Given the description of an element on the screen output the (x, y) to click on. 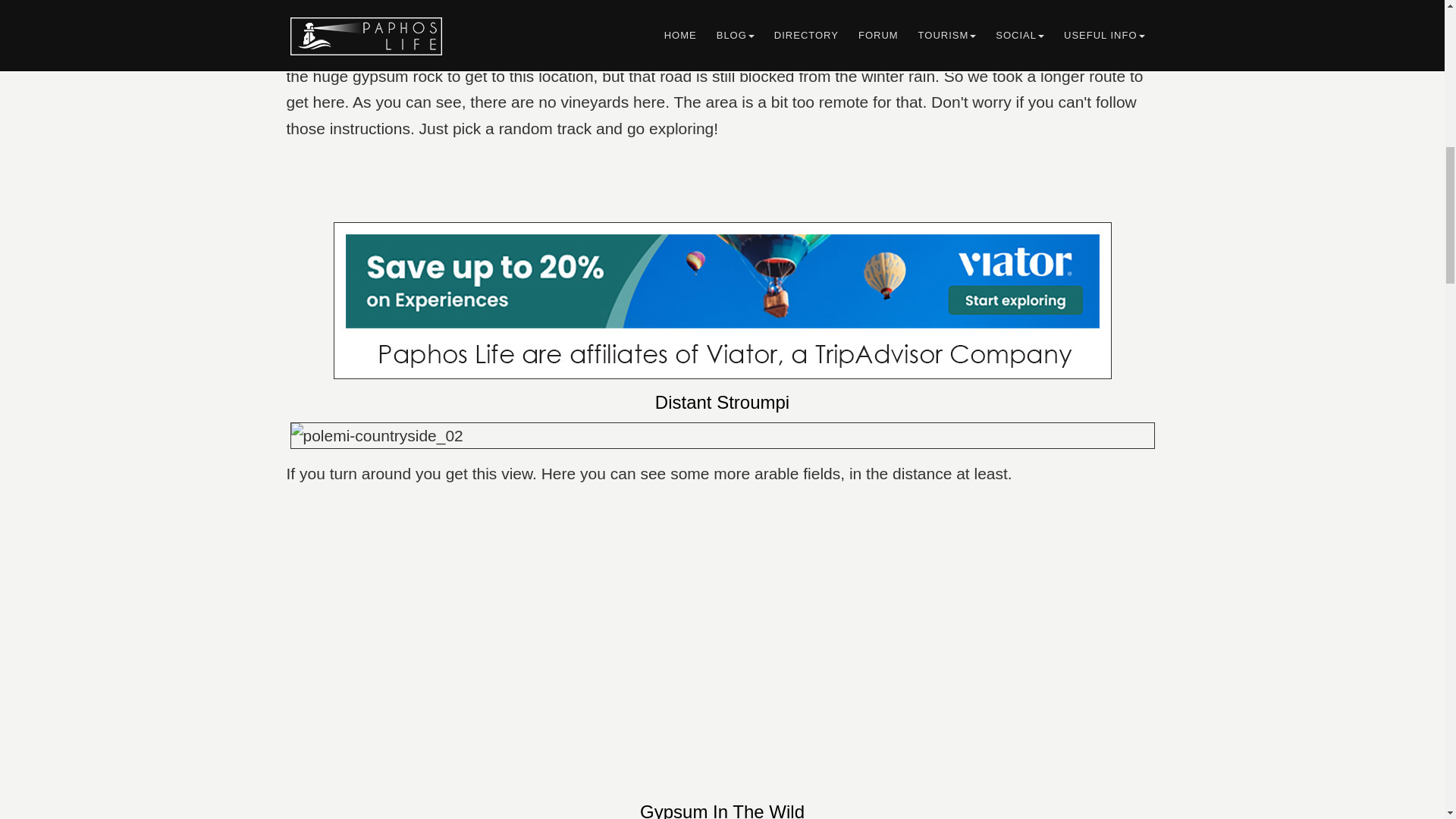
Polemi-countryside 02 (721, 435)
Polemi-countryside 01 (722, 12)
